Given the description of an element on the screen output the (x, y) to click on. 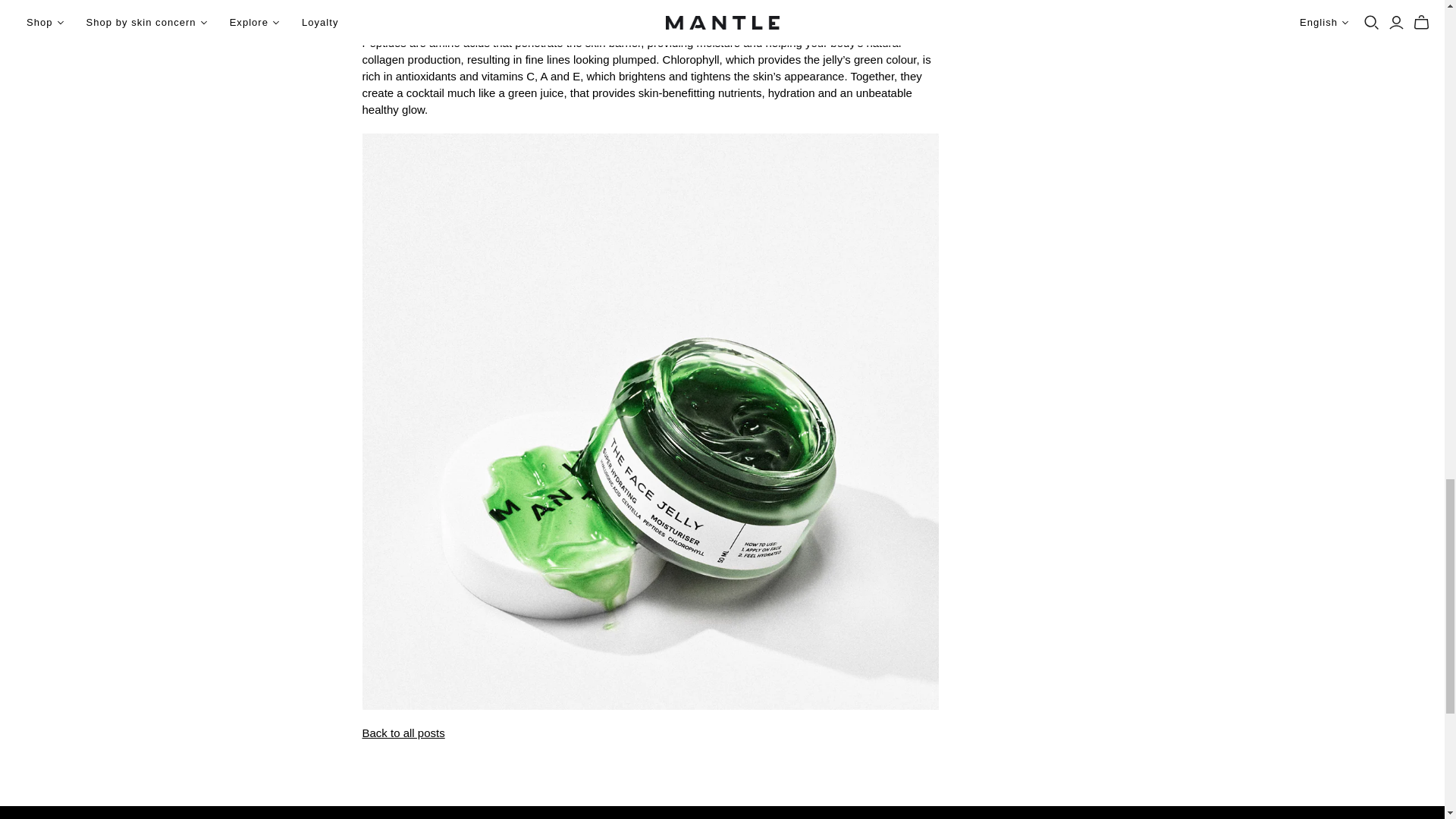
Back to all posts (403, 732)
